Given the description of an element on the screen output the (x, y) to click on. 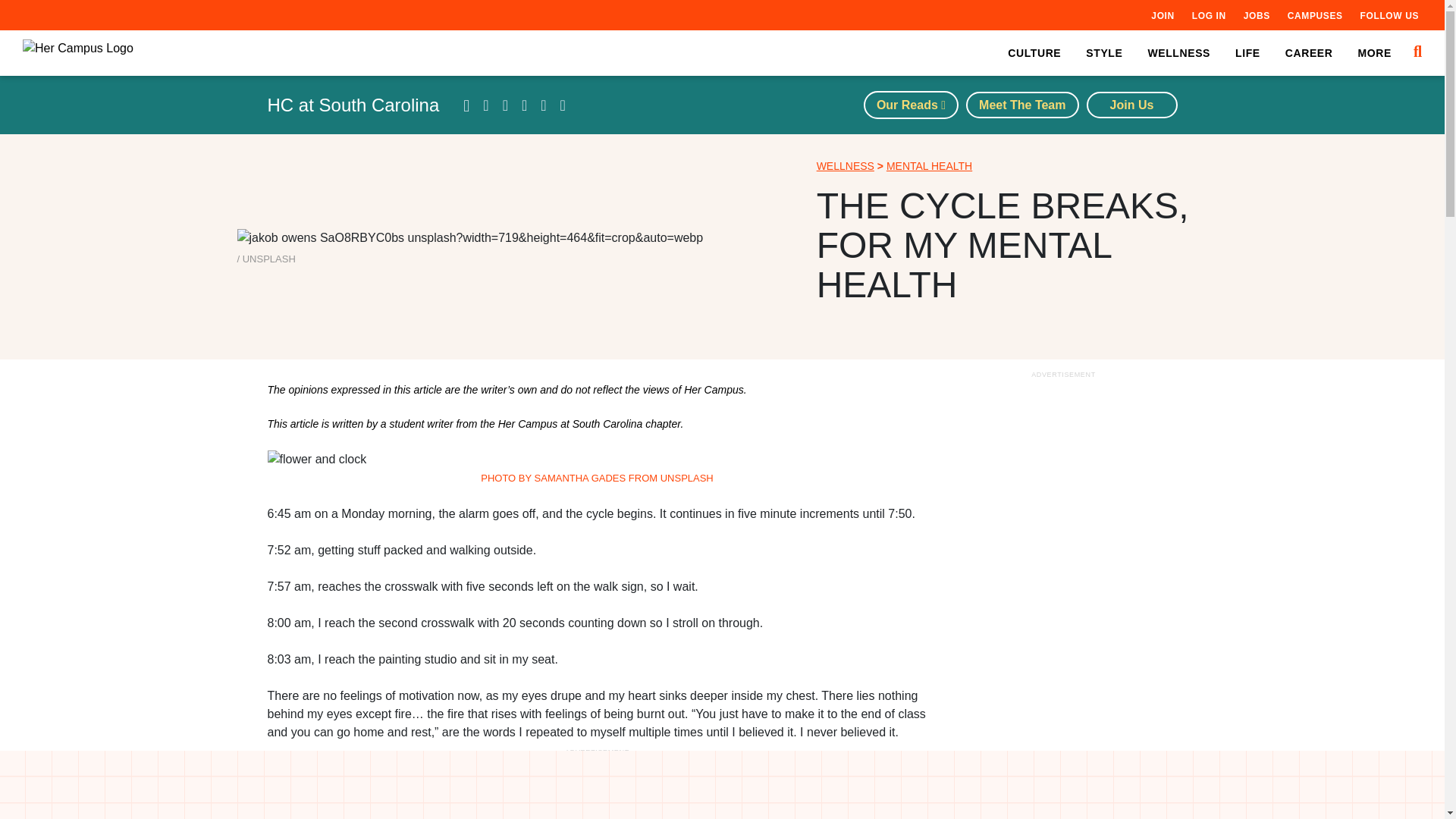
JOIN (1162, 15)
JOBS (1256, 15)
LOG IN (1208, 15)
The Cycle Breaks, For My Mental Health 3 (596, 459)
The Cycle Breaks, For My Mental Health 1 (469, 238)
CAMPUSES (1314, 15)
